Given the description of an element on the screen output the (x, y) to click on. 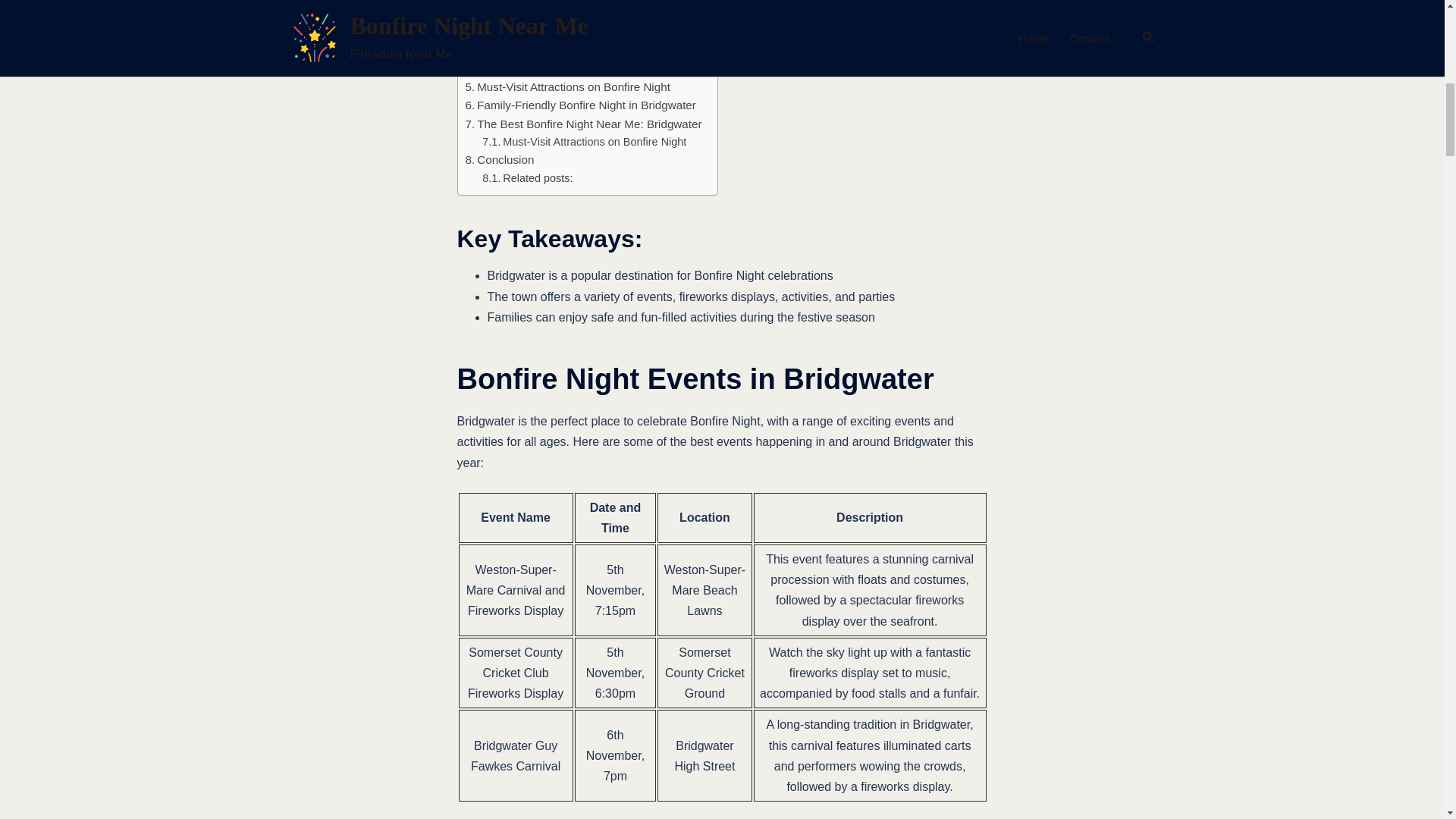
Fireworks Displays in Bridgwater (555, 31)
Bonfire Night Parties in Bridgwater (559, 68)
Family-Friendly Bonfire Night in Bridgwater (580, 105)
Fireworks Displays in Bridgwater (555, 31)
Must-Visit Attractions on Bonfire Night (583, 141)
Must-Visit Attractions on Bonfire Night (567, 86)
Bonfire Night Events in Bridgwater (558, 2)
Other Bonfire Night Activities in Bridgwater (579, 50)
Must-Visit Attractions on Bonfire Night (583, 141)
The Best Bonfire Night Near Me: Bridgwater (583, 124)
